Given the description of an element on the screen output the (x, y) to click on. 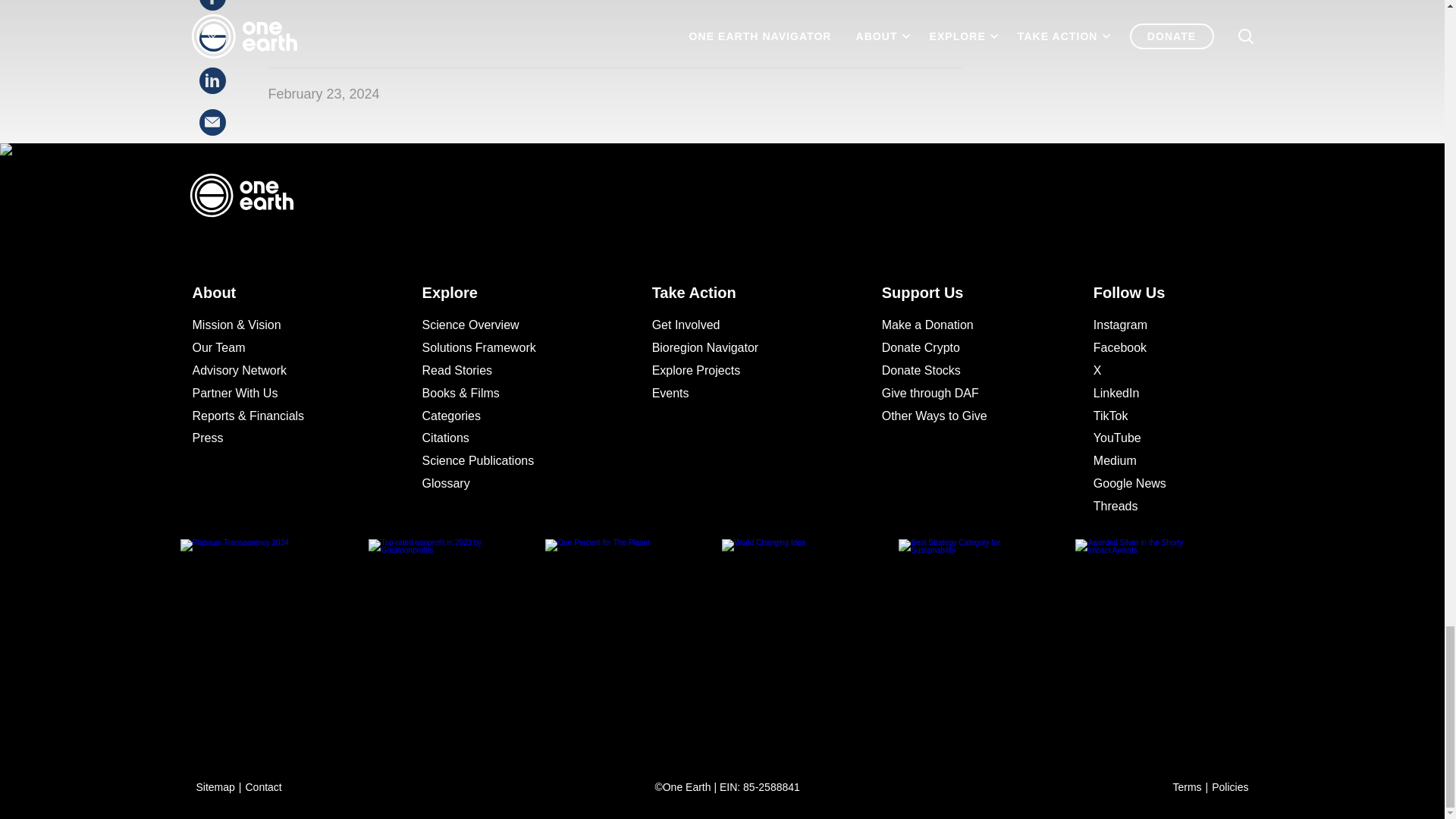
Follow us on LinkedIn (1163, 393)
Top-rated nonprofit in 2023 by Greatnonprofits (456, 633)
Follow us on YouTube (1163, 437)
Platinum Transparency 2024 (280, 633)
Follow us on Medium (1163, 460)
World Changing Idea (810, 633)
Awarded Silver in the Shorty Impact Awards (1163, 633)
Follow us on Facebook (1163, 347)
Follow us on Threads (1163, 506)
Follow us on Instagram (1163, 324)
Google News (1163, 483)
One Percent for The Planet (633, 633)
Follow us on Twitter (1163, 370)
Best Strategy Category for Sustainability (986, 633)
Follow us on TikTok (1163, 415)
